Given the description of an element on the screen output the (x, y) to click on. 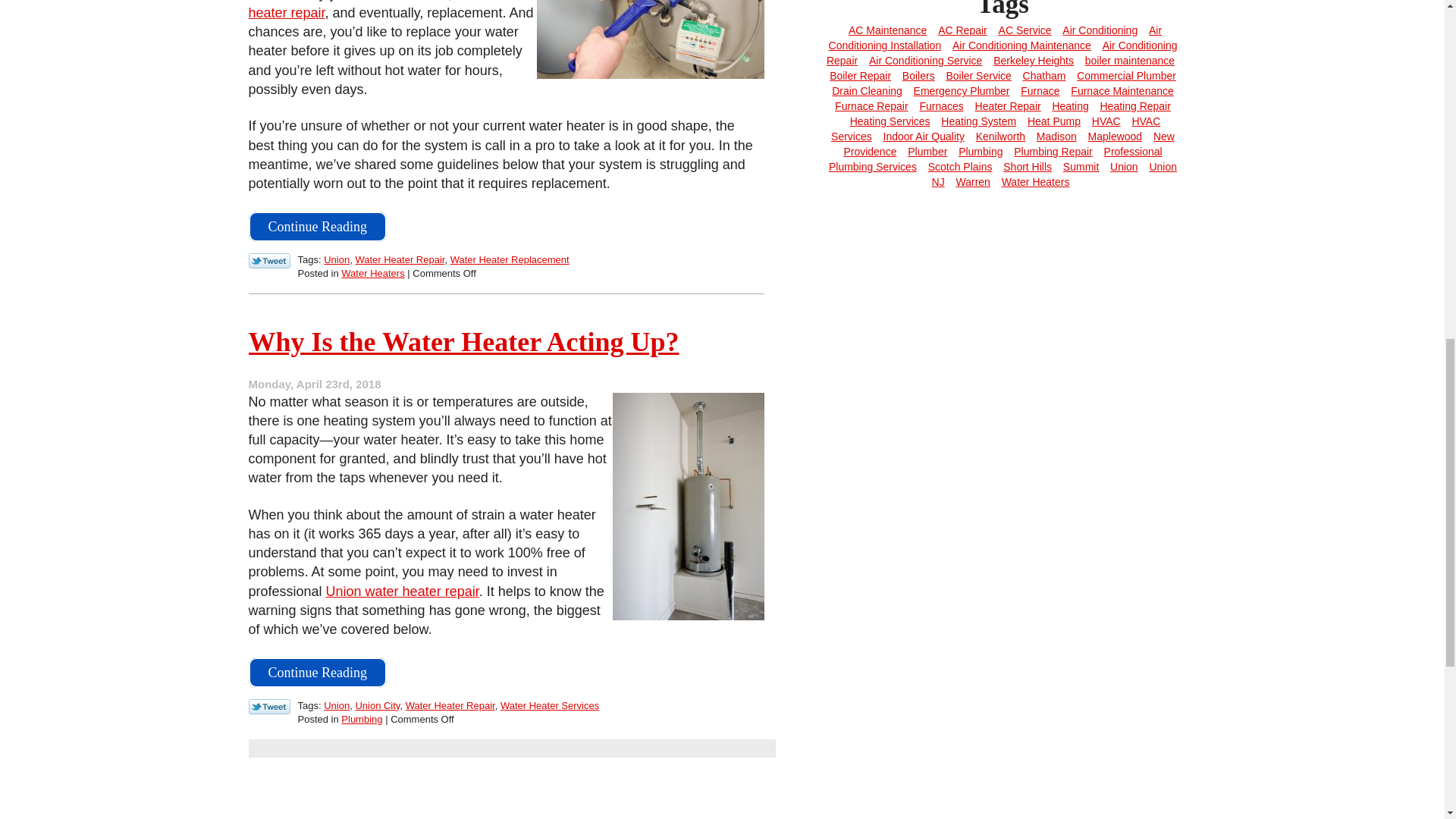
Permanent Link to Why Is the Water Heater Acting Up? (463, 341)
Permanent Link to Why Is the Water Heater Acting Up? (317, 672)
Permanent Link to Signs of a Worn Out Water Heater (317, 226)
